Given the description of an element on the screen output the (x, y) to click on. 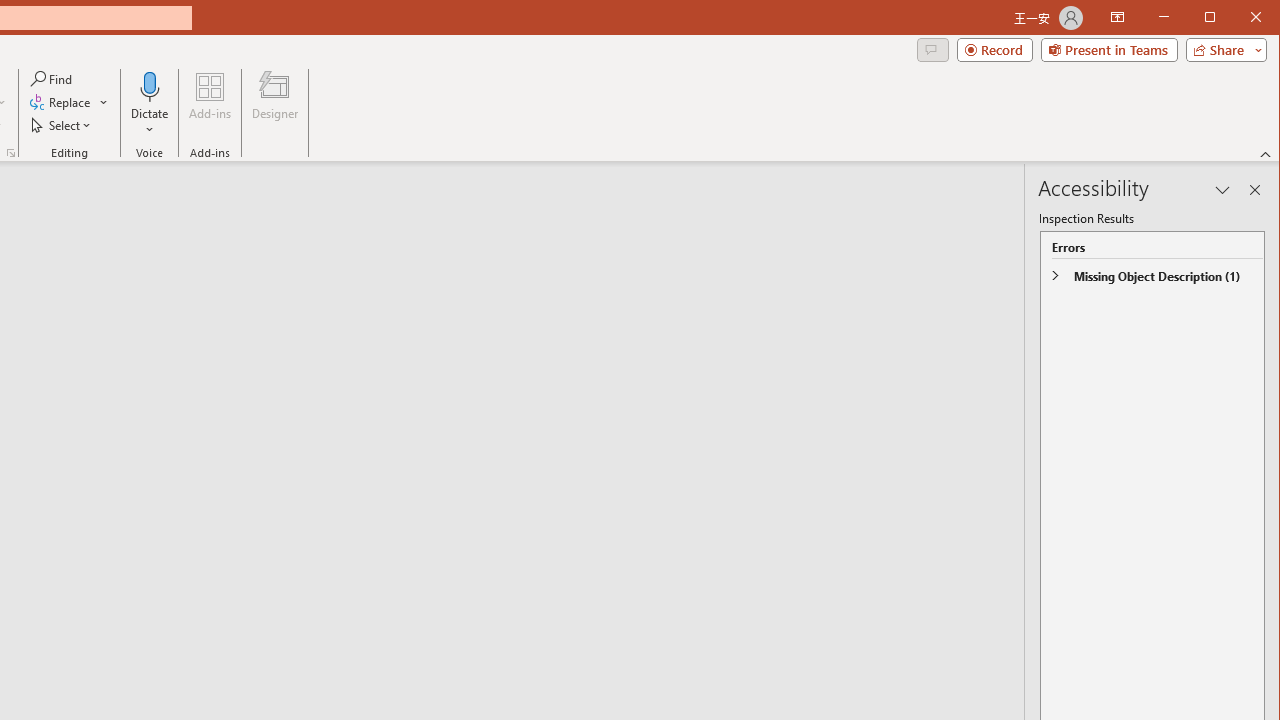
Find... (52, 78)
